Given the description of an element on the screen output the (x, y) to click on. 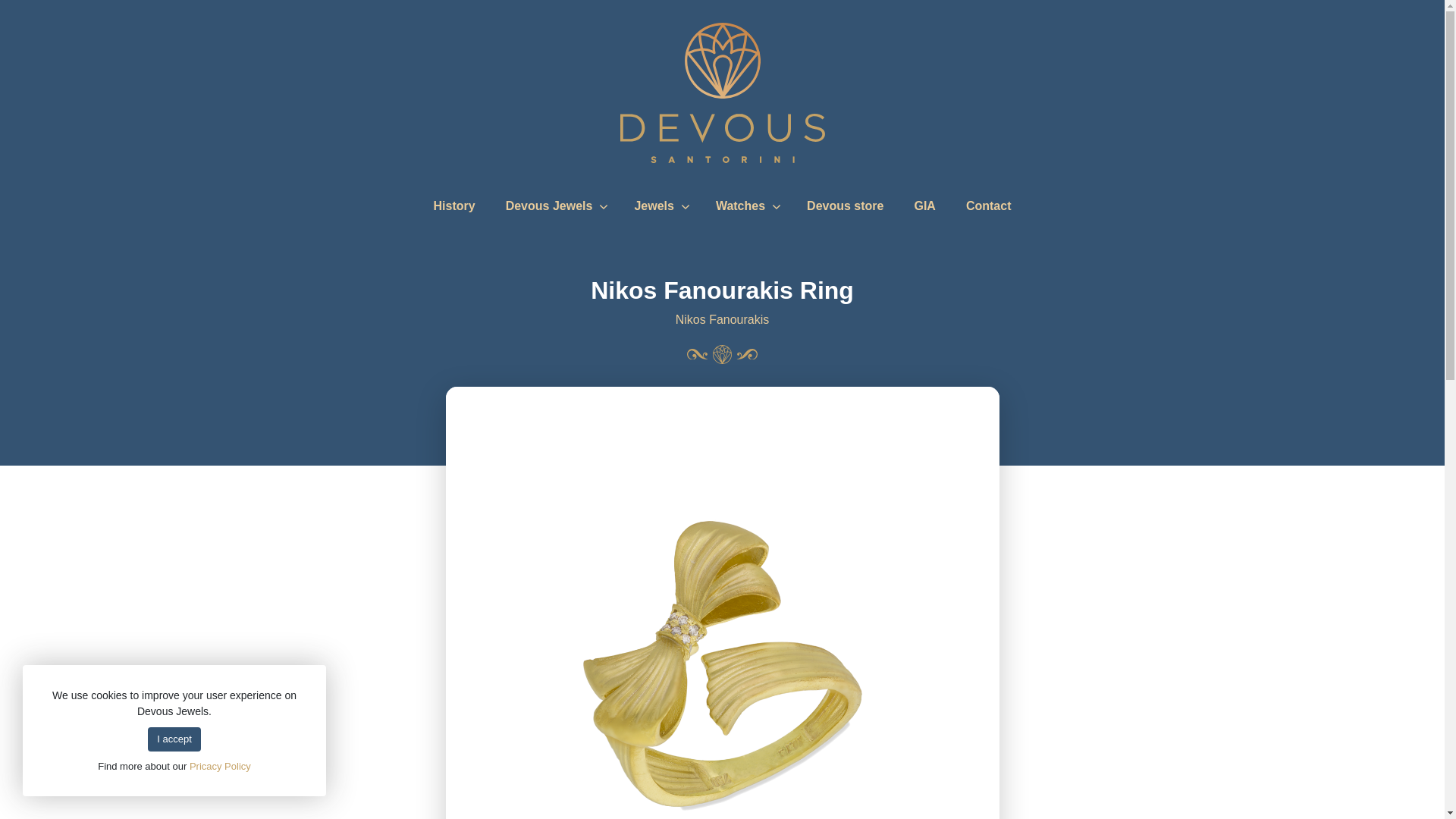
Devous store (845, 206)
devous (722, 137)
Watches (740, 206)
History (454, 206)
Contact (988, 206)
GIA (923, 206)
Jewels (653, 206)
Devous Jewels (548, 206)
